Given the description of an element on the screen output the (x, y) to click on. 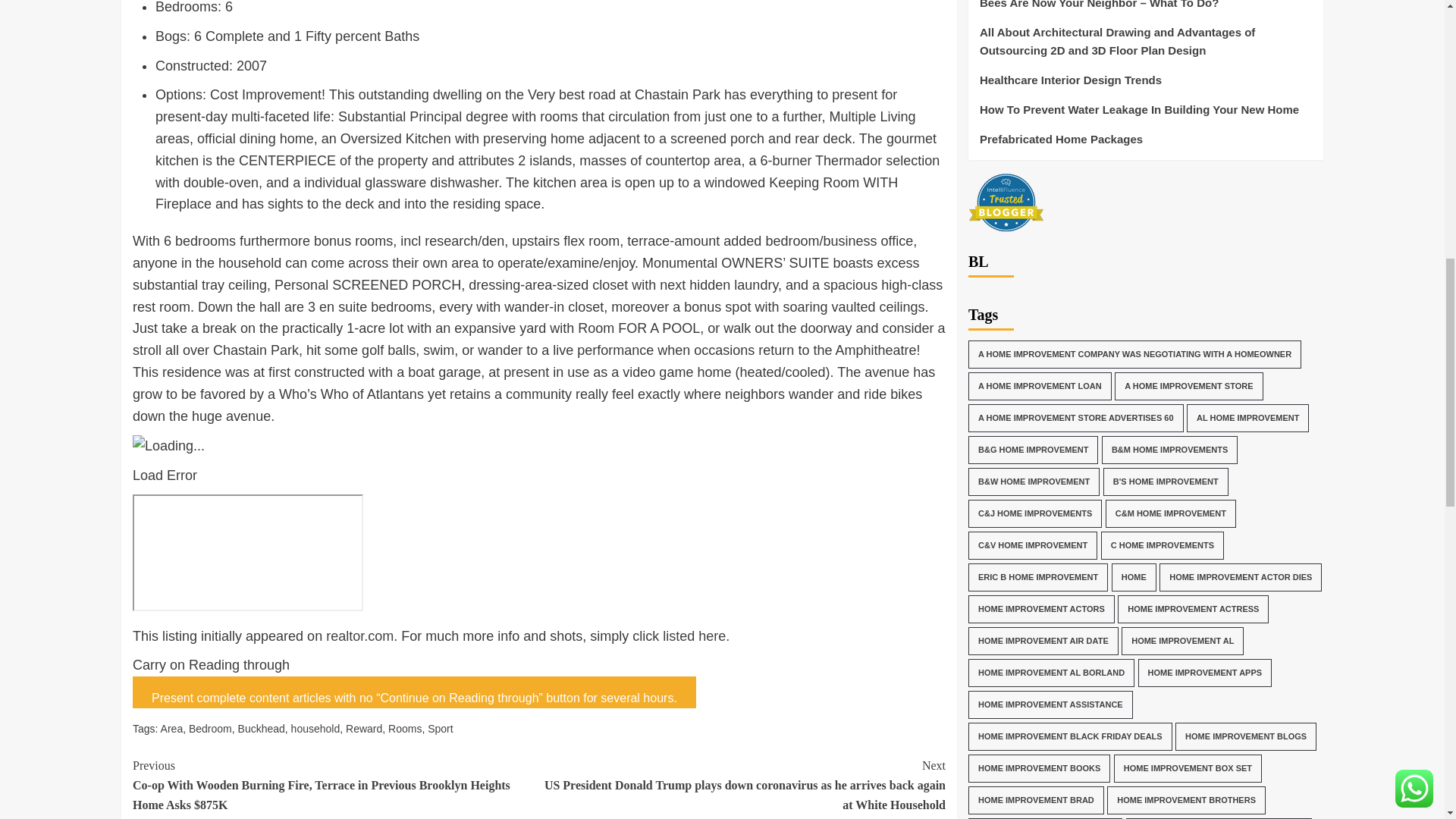
Area (171, 728)
realtor.com (359, 635)
Bedroom (210, 728)
household (315, 728)
Sport (440, 728)
Buckhead (261, 728)
Reward (363, 728)
Rooms (405, 728)
listed here. (695, 635)
